Given the description of an element on the screen output the (x, y) to click on. 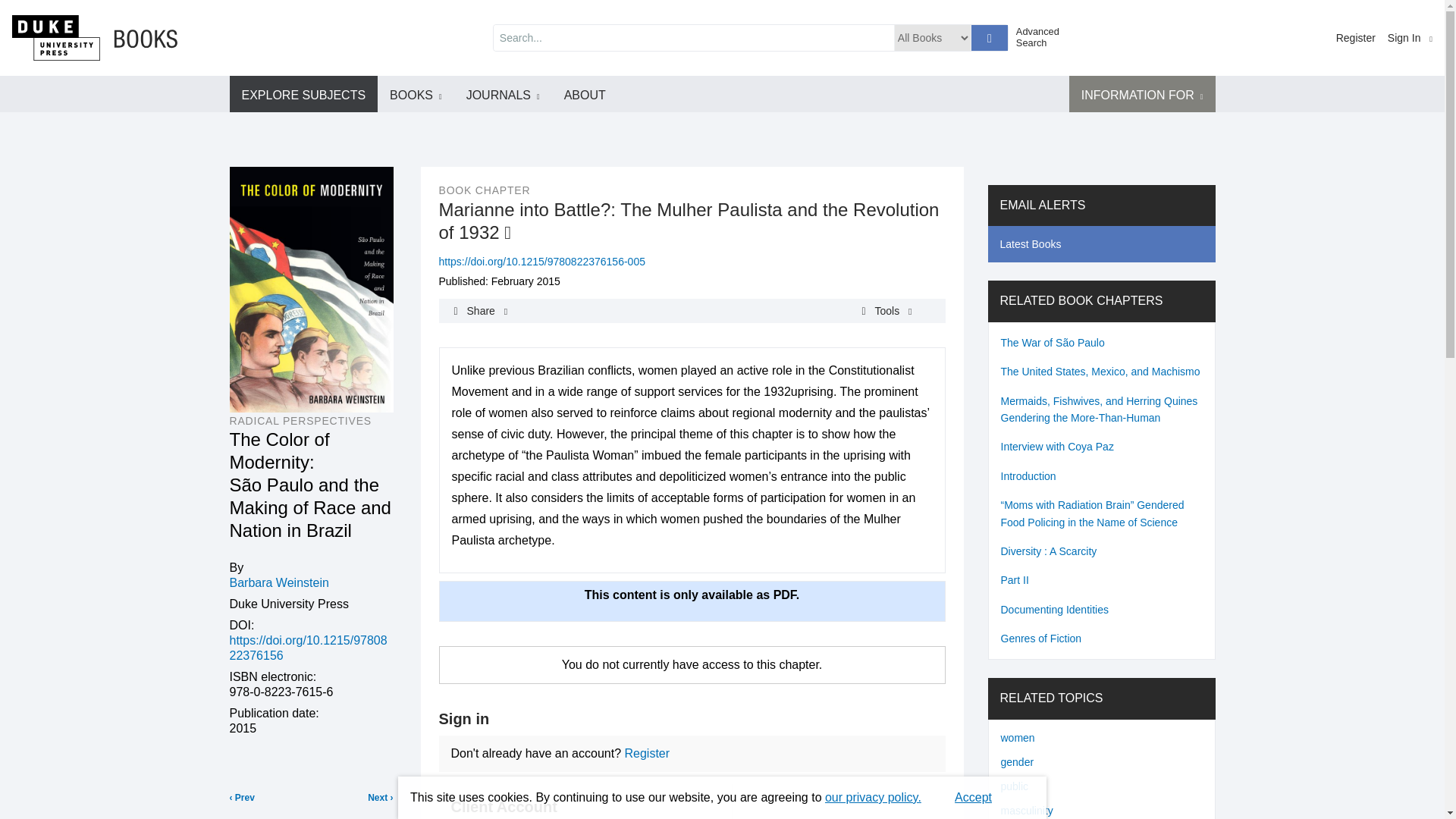
JOURNALS (502, 94)
search input (693, 37)
EXPLORE SUBJECTS (302, 94)
Register (1355, 37)
Advanced Search (1043, 37)
BOOKS (415, 94)
Sign In (1409, 37)
